Given the description of an element on the screen output the (x, y) to click on. 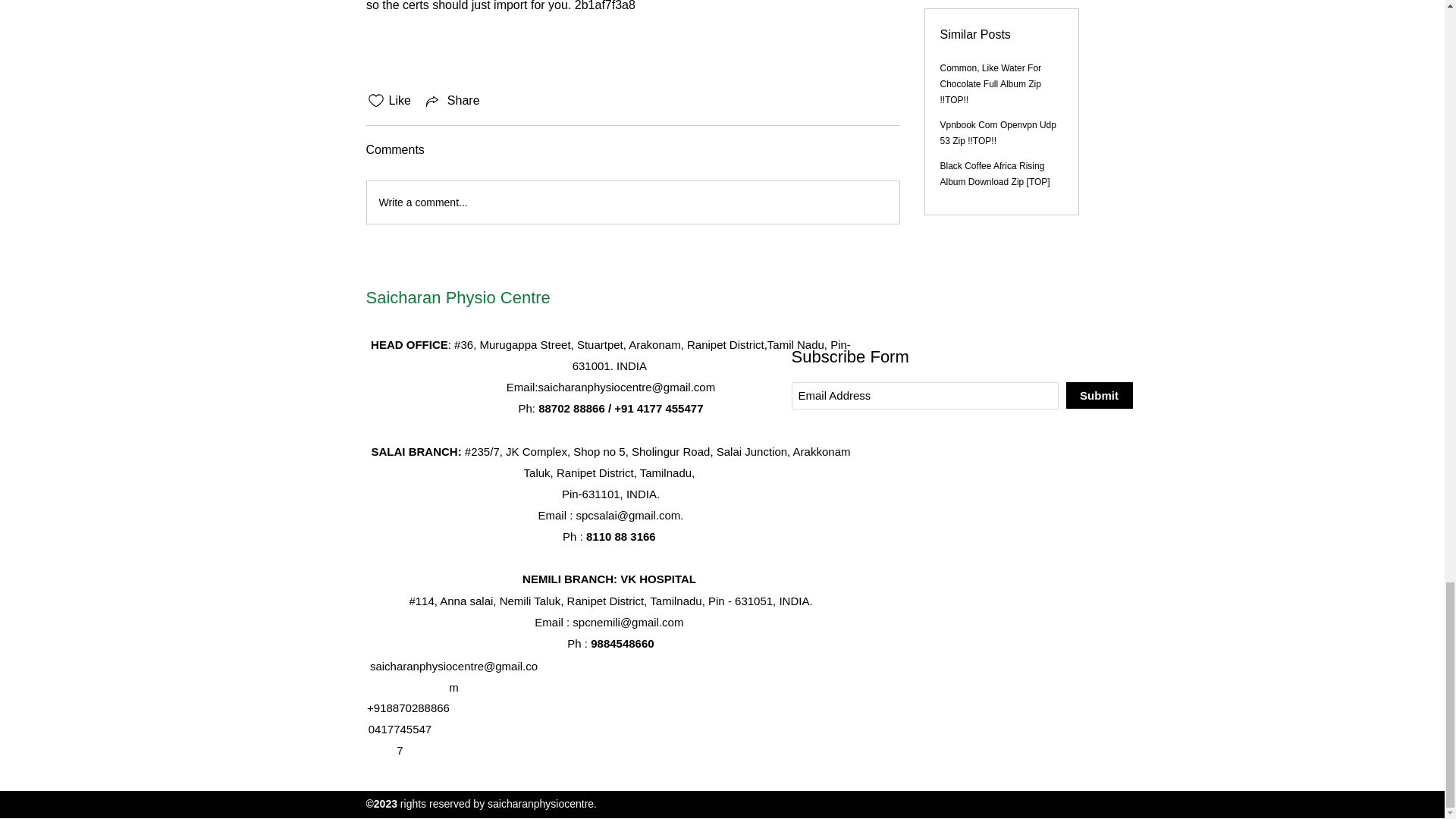
Submit (1098, 395)
Saicharan Physio Centre (457, 297)
Write a comment... (632, 201)
Share (451, 100)
